Given the description of an element on the screen output the (x, y) to click on. 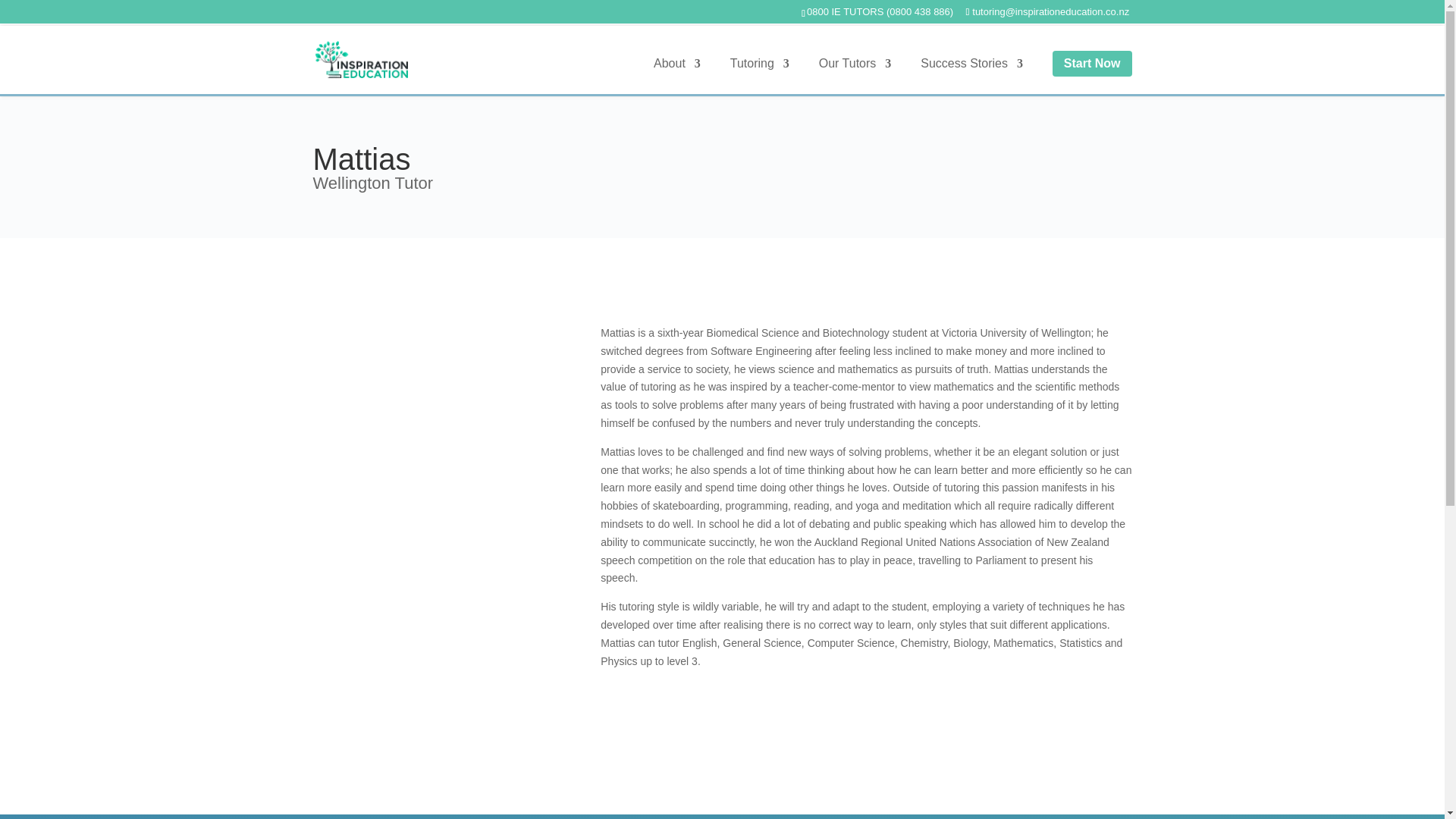
Start Now (1092, 62)
About (676, 75)
Success Stories (971, 75)
Our Tutors (854, 75)
Tutoring (759, 75)
